Given the description of an element on the screen output the (x, y) to click on. 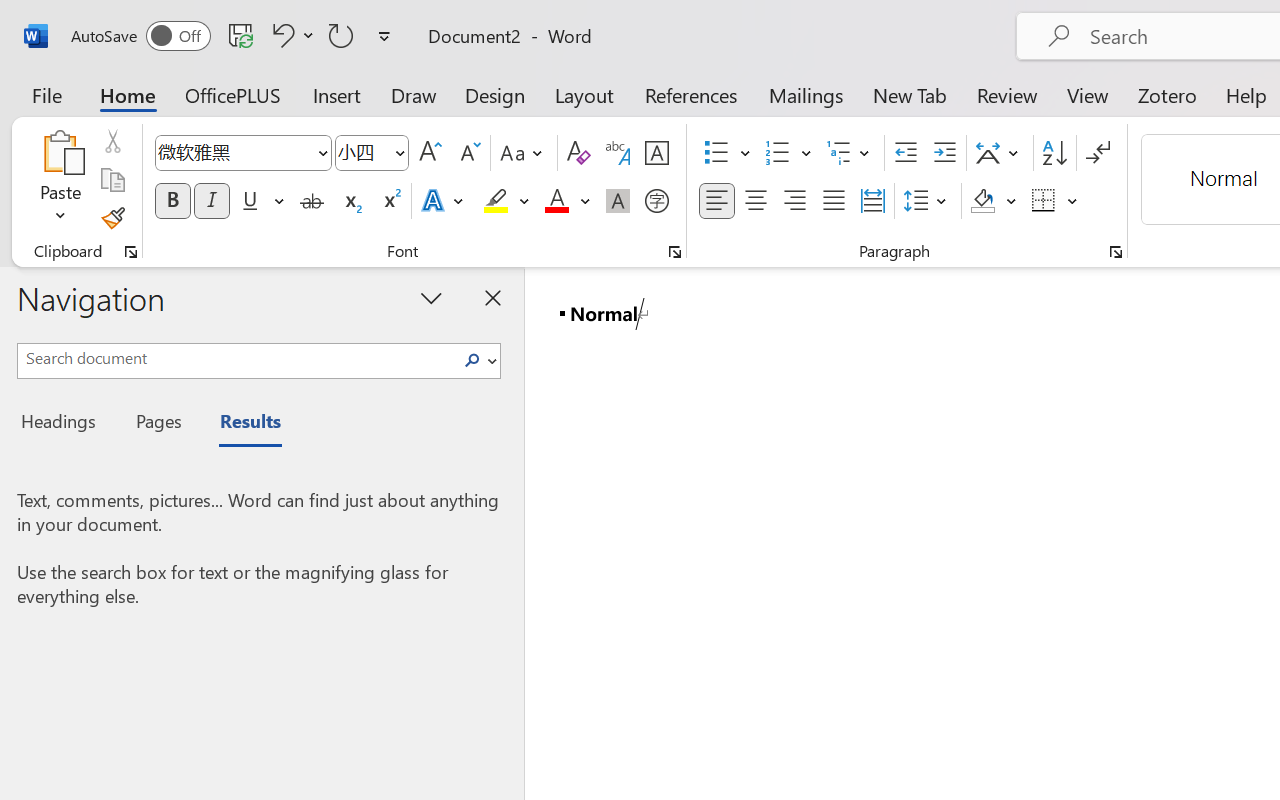
OfficePLUS (233, 94)
Line and Paragraph Spacing (927, 201)
Asian Layout (1000, 153)
Decrease Indent (906, 153)
Class: NetUIImage (471, 360)
Numbering (778, 153)
Office Clipboard... (131, 252)
Task Pane Options (431, 297)
Text Highlight Color Yellow (495, 201)
Superscript (390, 201)
Bullets (727, 153)
Increase Indent (944, 153)
Undo Style (280, 35)
New Tab (909, 94)
